Given the description of an element on the screen output the (x, y) to click on. 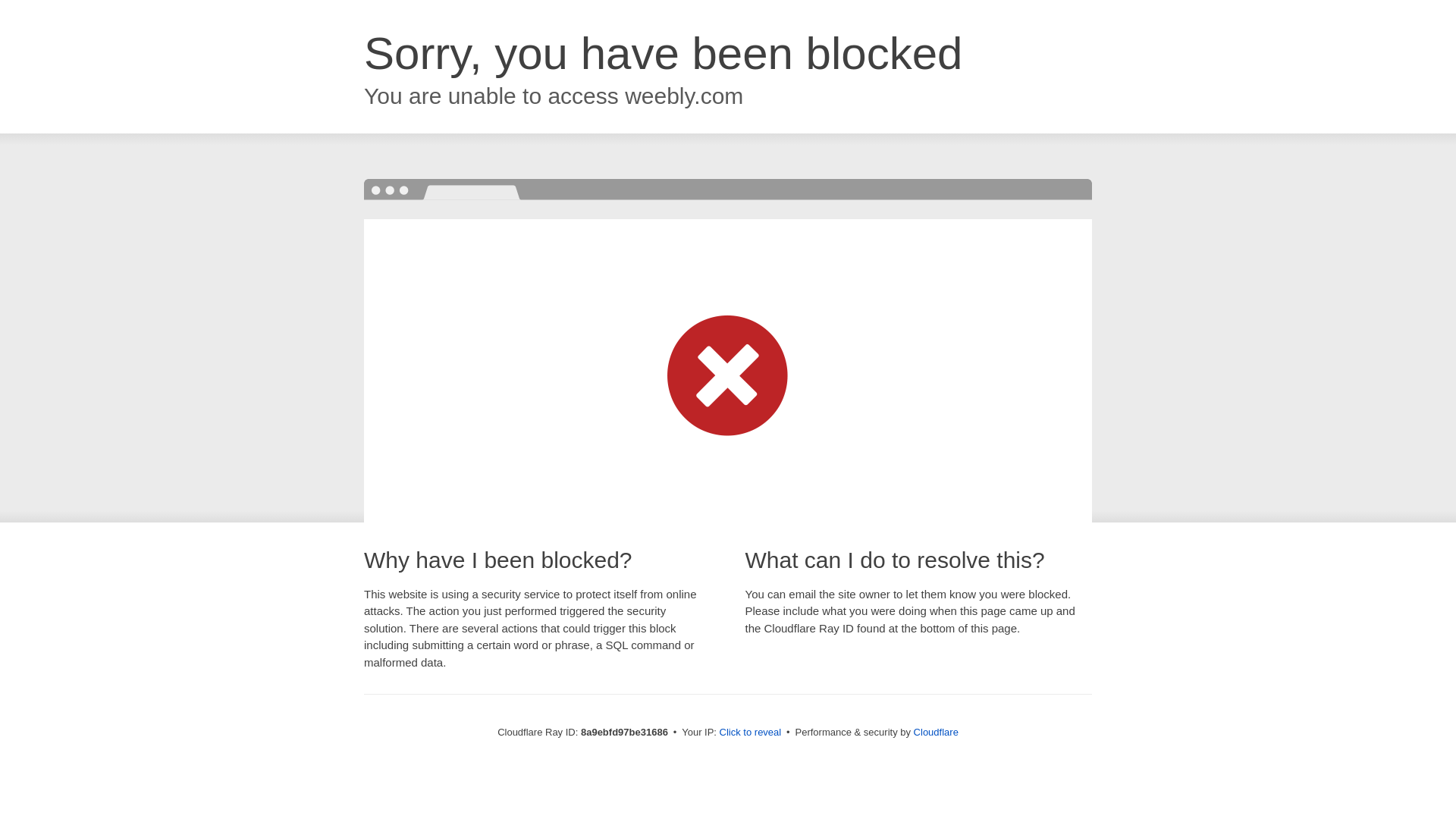
Cloudflare (936, 731)
Click to reveal (750, 732)
